Given the description of an element on the screen output the (x, y) to click on. 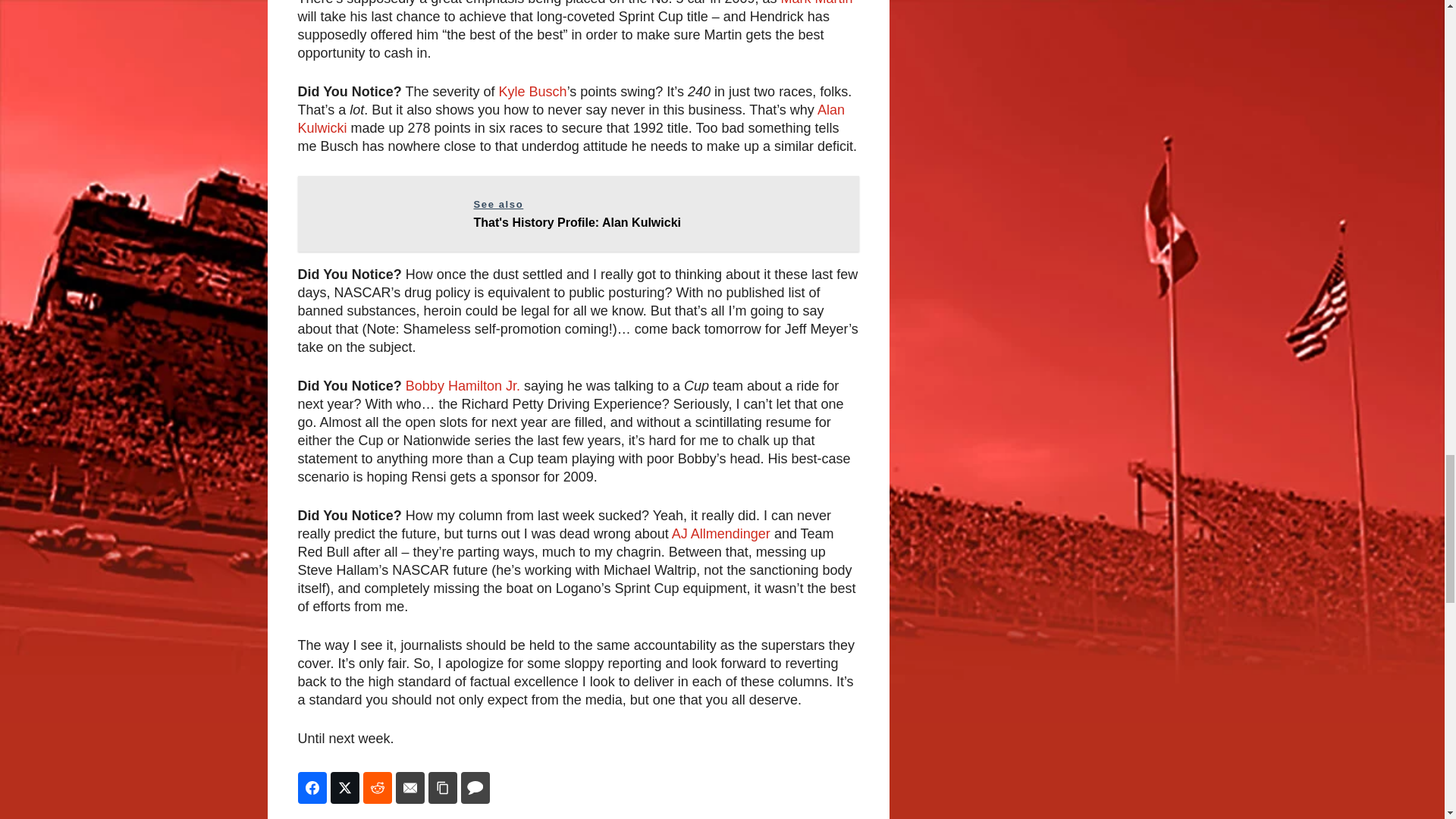
Share on Twitter (578, 213)
Kyle Busch (344, 787)
Mark Martin (533, 91)
Share on Reddit (816, 2)
Share on Email (376, 787)
AJ Allmendinger (410, 787)
Alan Kulwicki (720, 533)
Bobby Hamilton Jr. (570, 118)
Share on Copy Link (462, 385)
Share on Comments (442, 787)
Share on Facebook (475, 787)
